Given the description of an element on the screen output the (x, y) to click on. 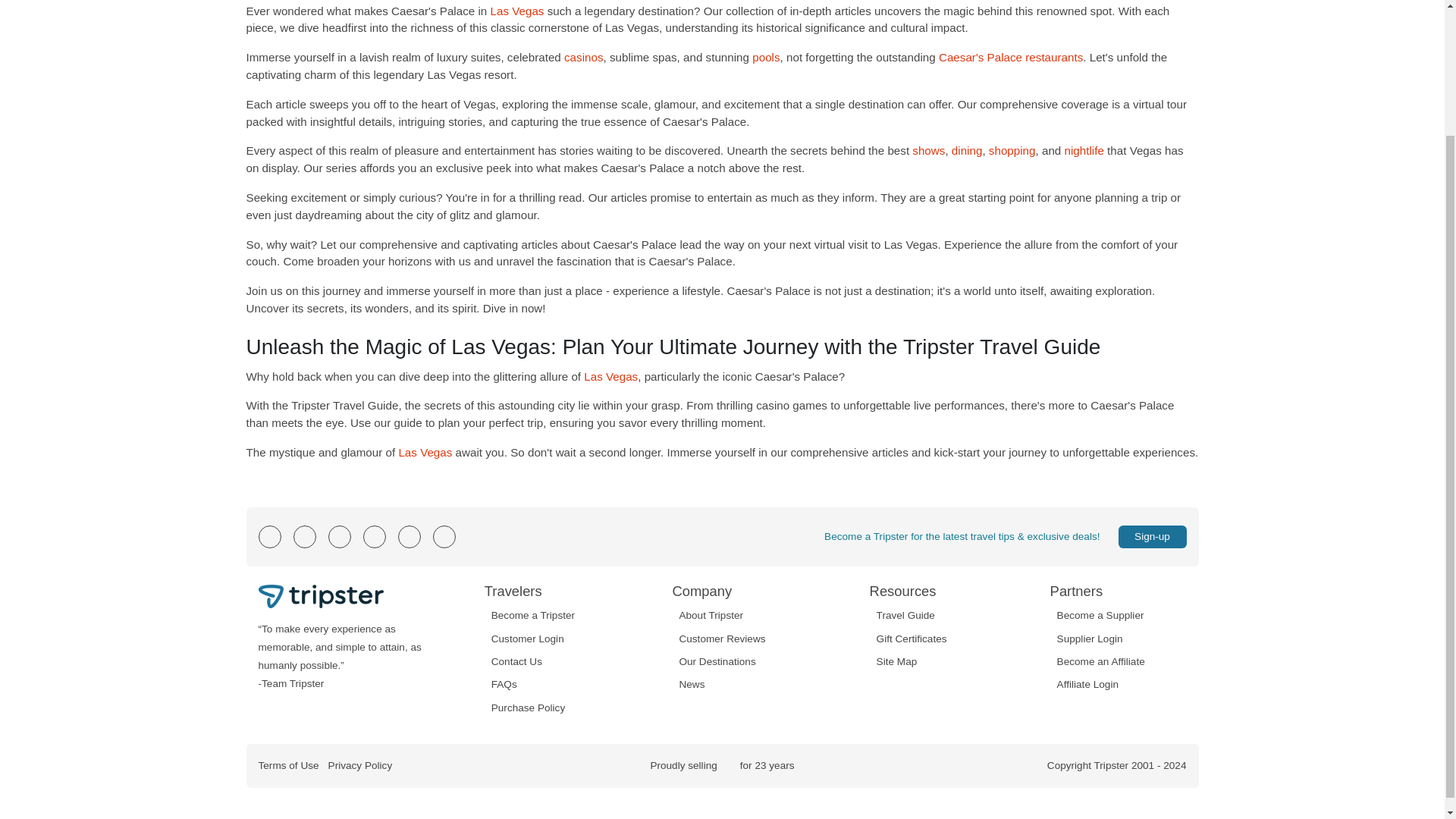
casinos (584, 56)
pools (765, 56)
Las Vegas (516, 10)
